Given the description of an element on the screen output the (x, y) to click on. 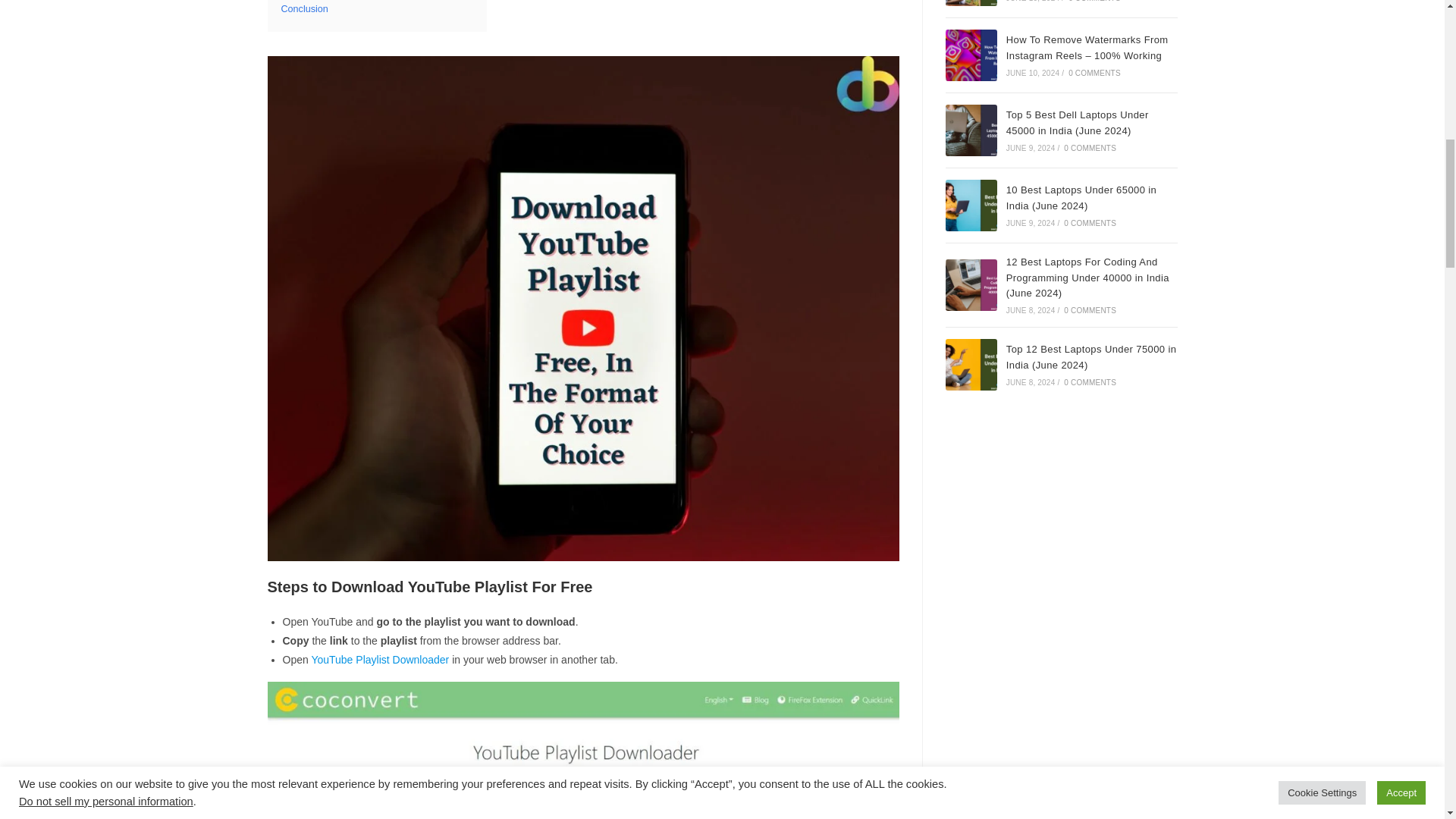
Conclusion (304, 9)
